Given the description of an element on the screen output the (x, y) to click on. 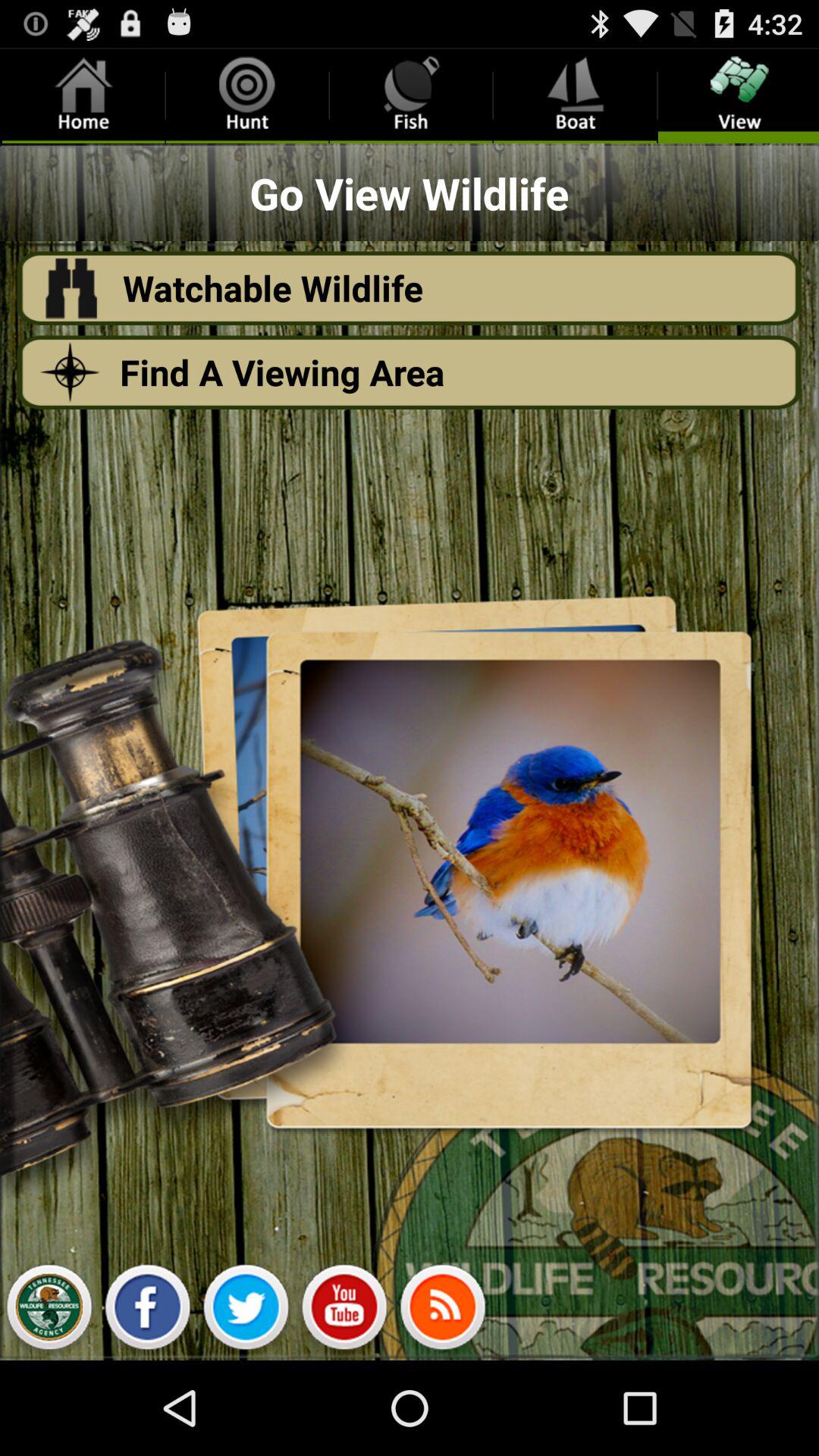
share to twitter (245, 1311)
